Given the description of an element on the screen output the (x, y) to click on. 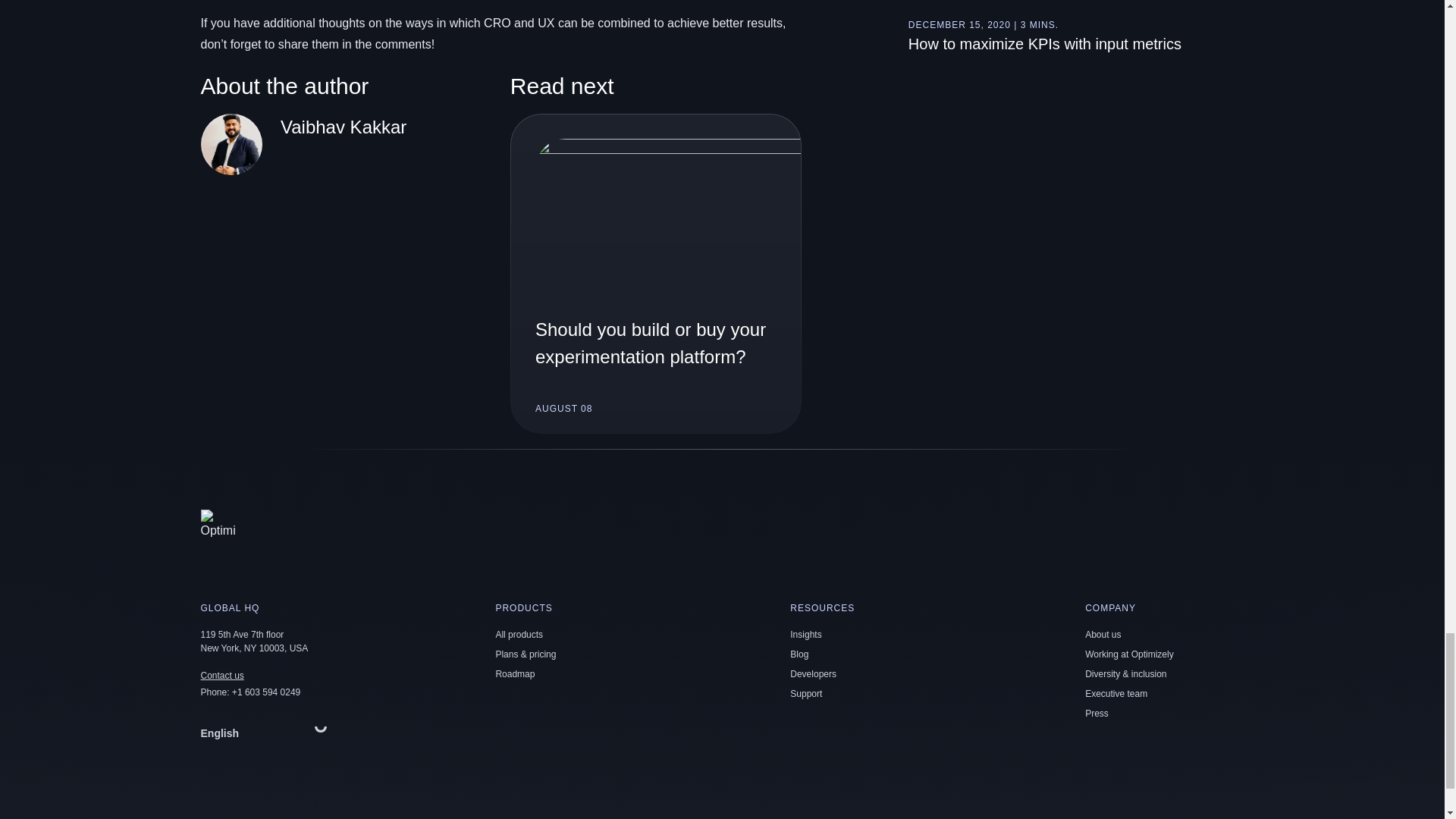
Blog (799, 654)
Contact us (221, 675)
Developers (812, 674)
Working at Optimizely (1128, 654)
Support (806, 693)
About us (1102, 634)
English (266, 733)
Insights (805, 634)
Roadmap (514, 674)
